Given the description of an element on the screen output the (x, y) to click on. 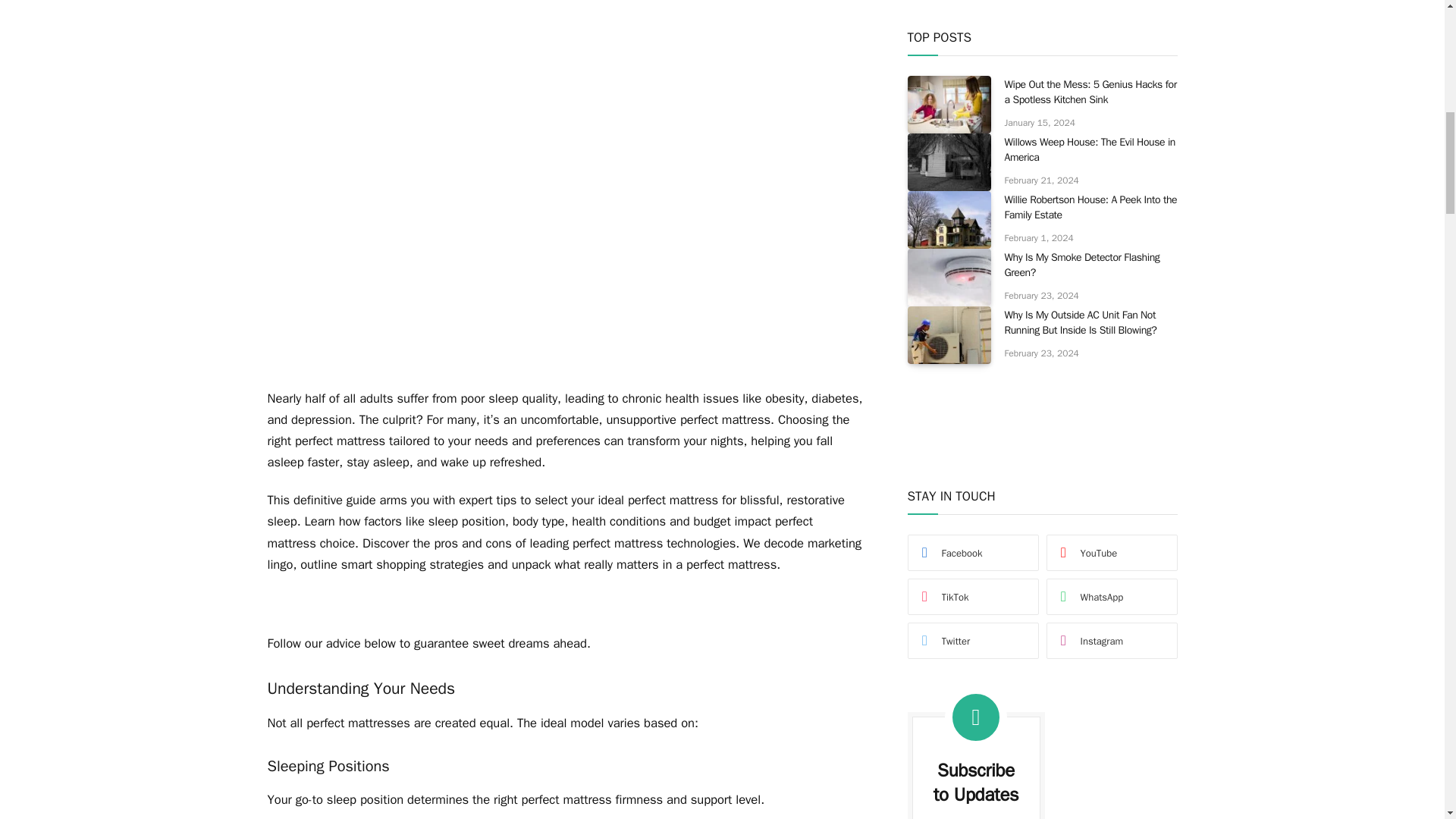
Subscribe (975, 441)
on (934, 479)
